Given the description of an element on the screen output the (x, y) to click on. 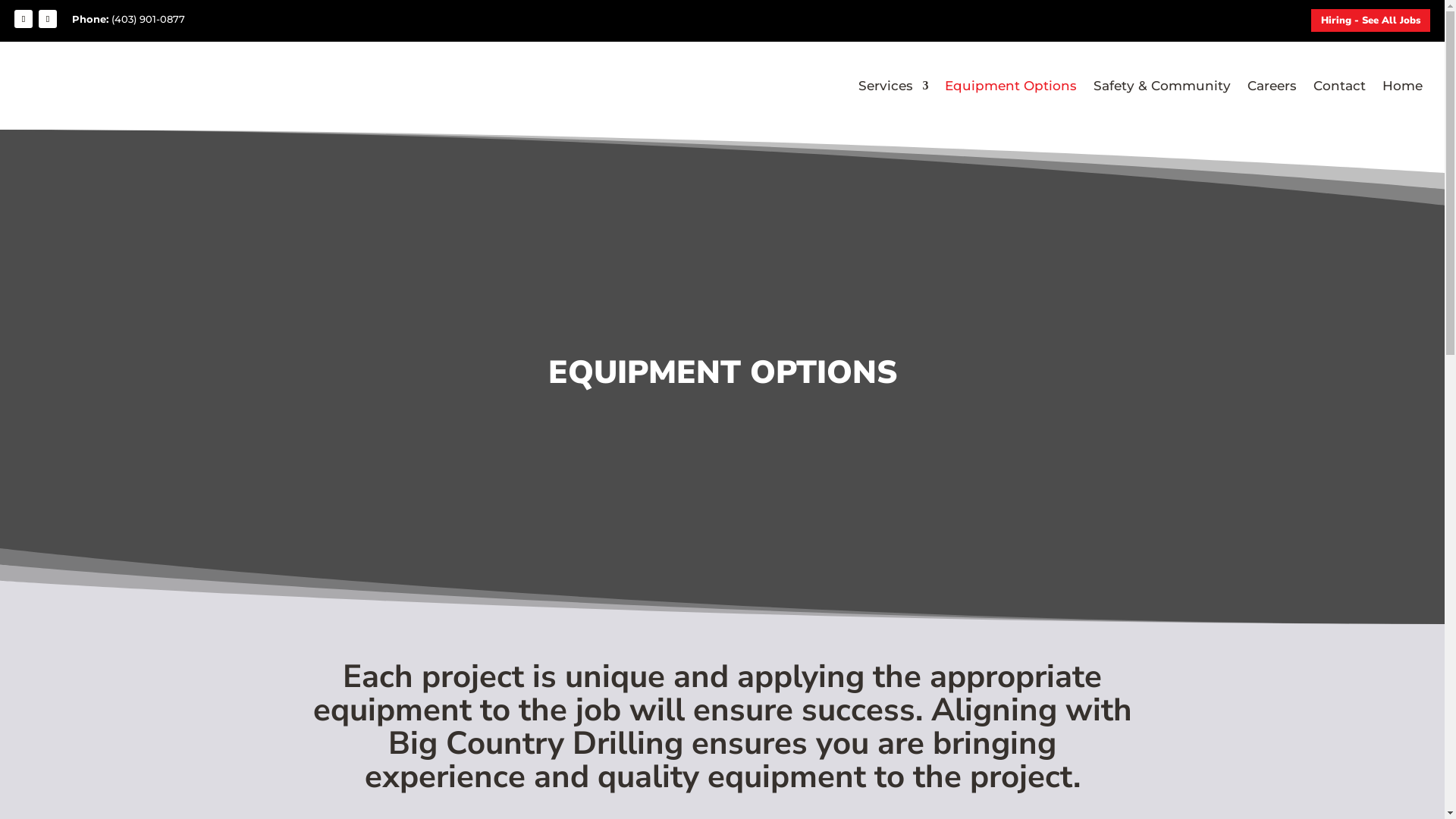
Equipment Options Element type: text (1010, 85)
(403) 901-0877 Element type: text (148, 18)
Contact Element type: text (1339, 85)
Safety & Community Element type: text (1161, 85)
Follow on LinkedIn Element type: hover (47, 18)
Hiring - See All Jobs Element type: text (1370, 20)
Follow on Facebook Element type: hover (23, 18)
Services Element type: text (893, 85)
Careers Element type: text (1271, 85)
Home Element type: text (1402, 85)
